Given the description of an element on the screen output the (x, y) to click on. 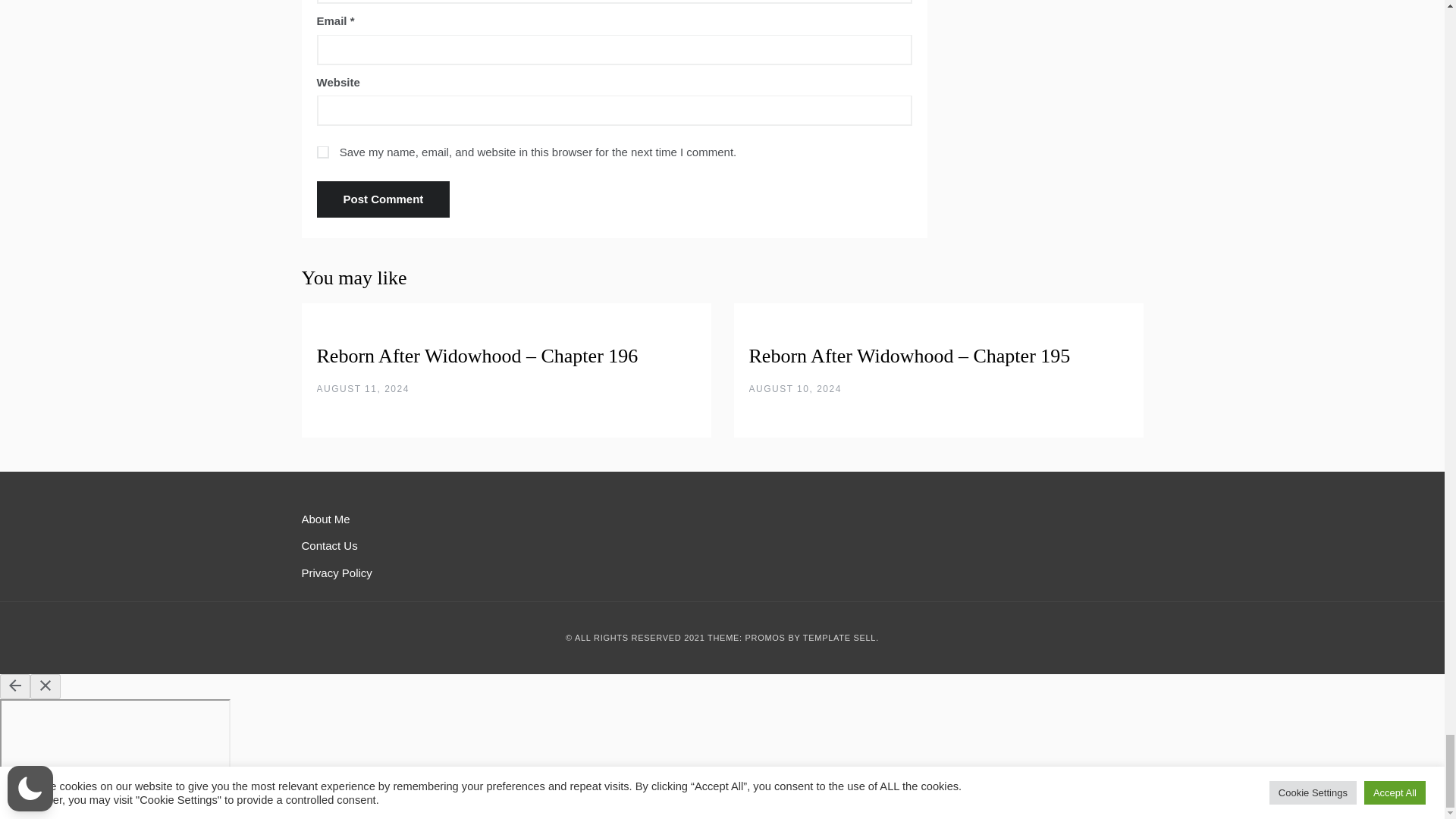
About Me (325, 518)
Post Comment (383, 198)
Post Comment (383, 198)
Privacy Policy (336, 572)
Contact Us (329, 545)
yes (323, 152)
